Given the description of an element on the screen output the (x, y) to click on. 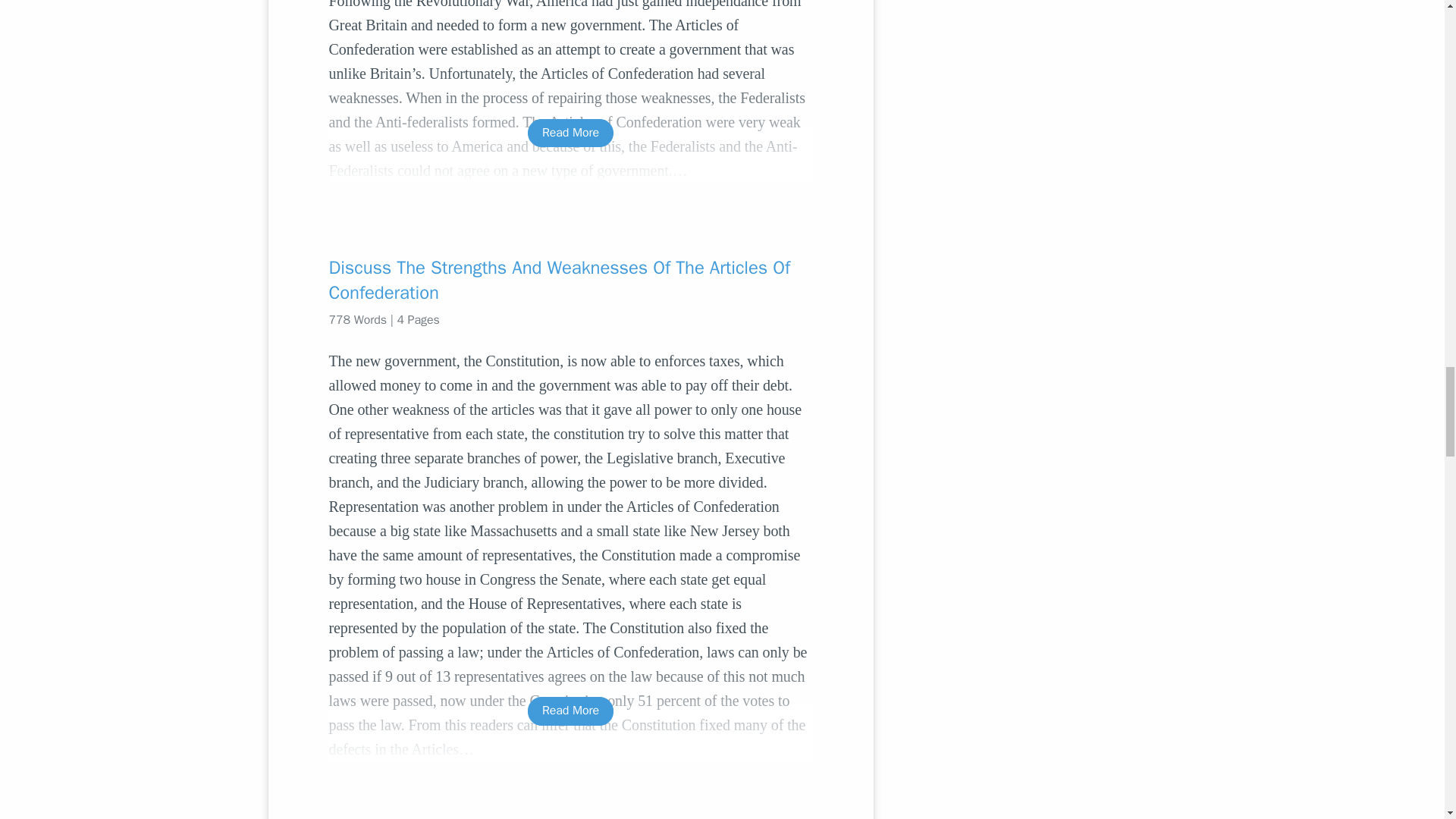
Read More (569, 132)
Read More (569, 710)
